Given the description of an element on the screen output the (x, y) to click on. 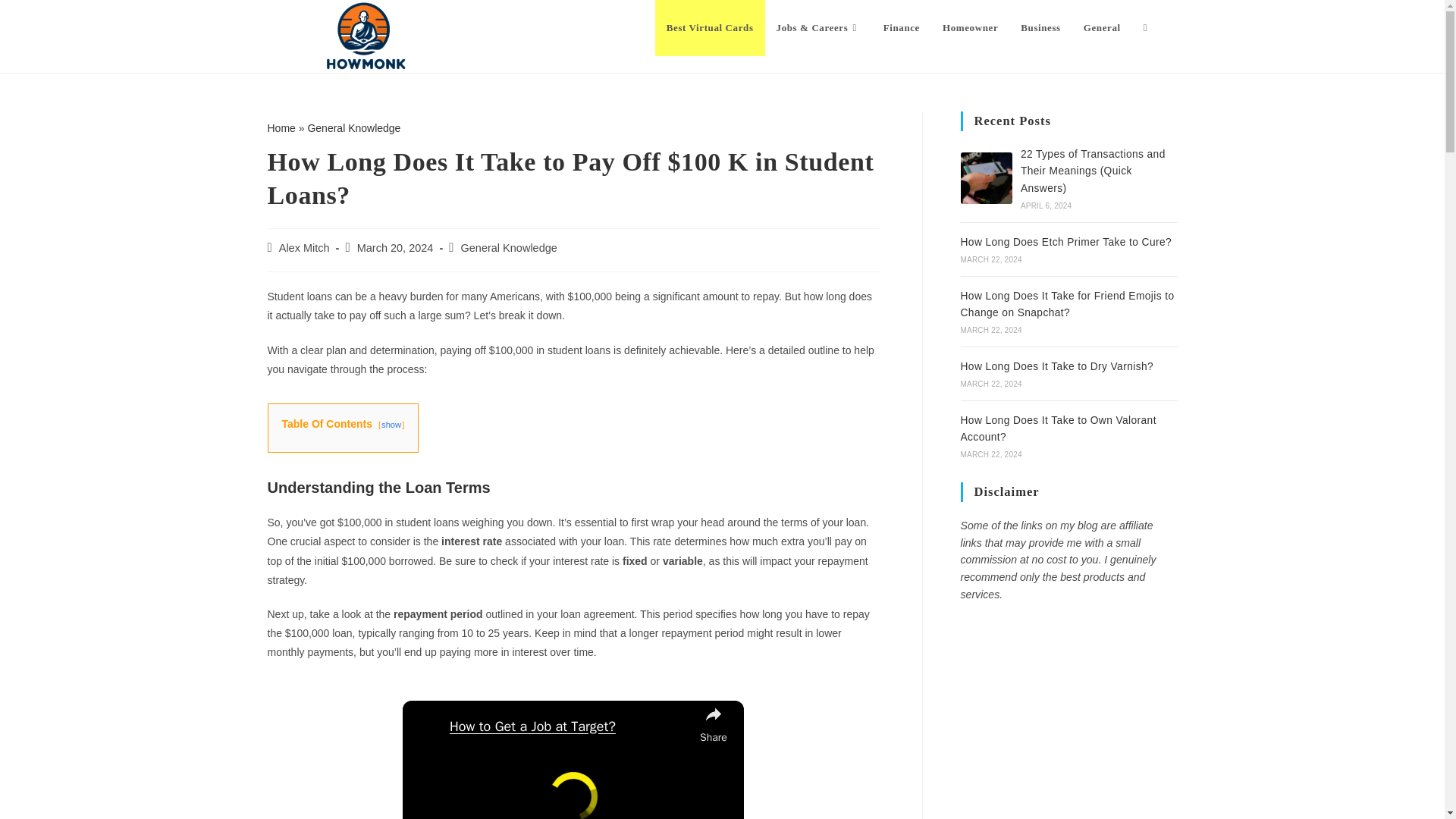
Posts by Alex Mitch (304, 247)
General Knowledge (509, 247)
show (391, 424)
Toggle website search (1145, 28)
share (713, 723)
Finance (901, 28)
Home (280, 128)
Alex Mitch (304, 247)
Best Virtual Cards (710, 28)
General Knowledge (353, 128)
Home (280, 128)
Business (1040, 28)
Homeowner (970, 28)
General Knowledge (353, 128)
General (1101, 28)
